Given the description of an element on the screen output the (x, y) to click on. 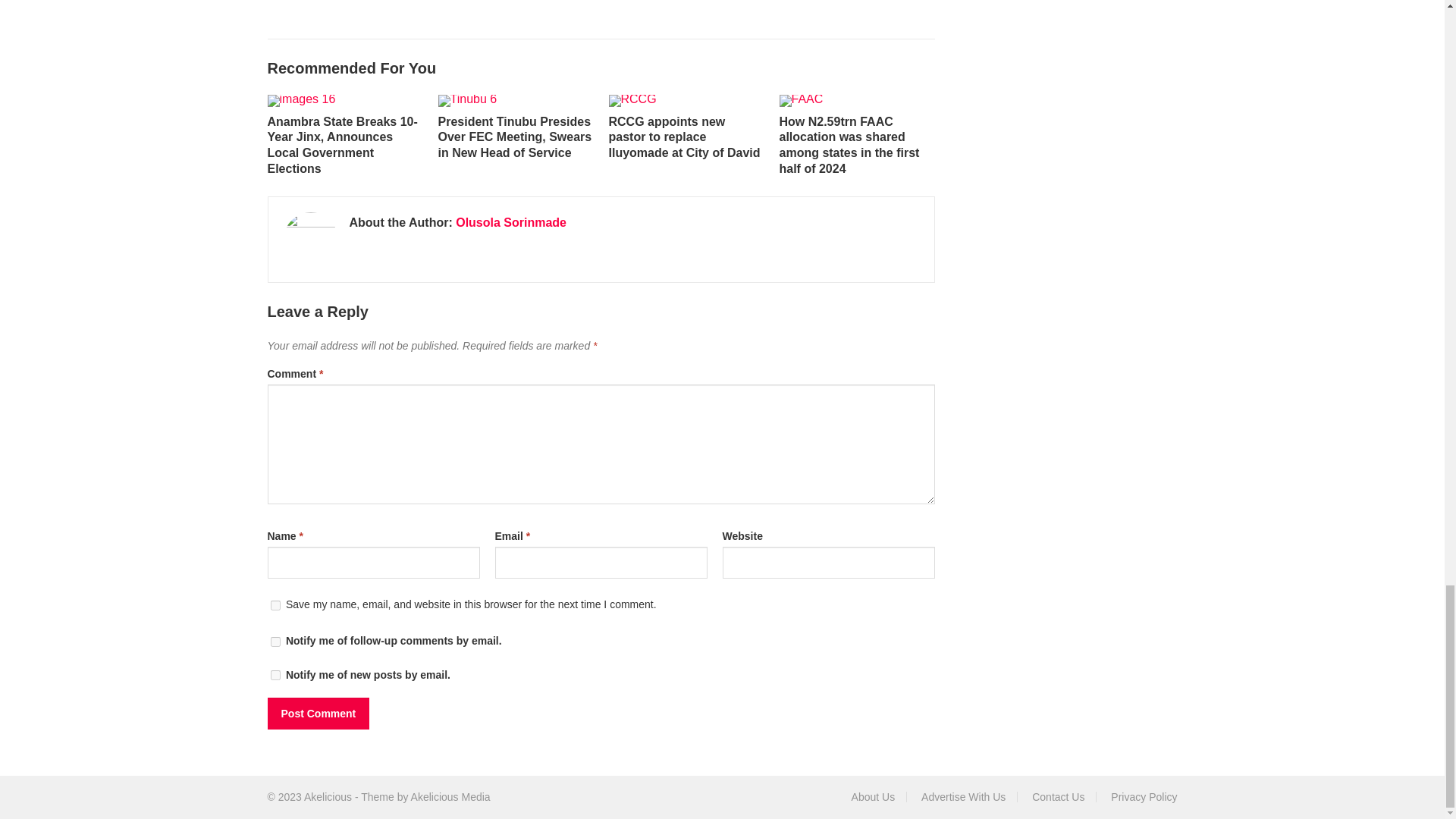
subscribe (274, 642)
subscribe (274, 675)
Post Comment (317, 713)
yes (274, 605)
